Given the description of an element on the screen output the (x, y) to click on. 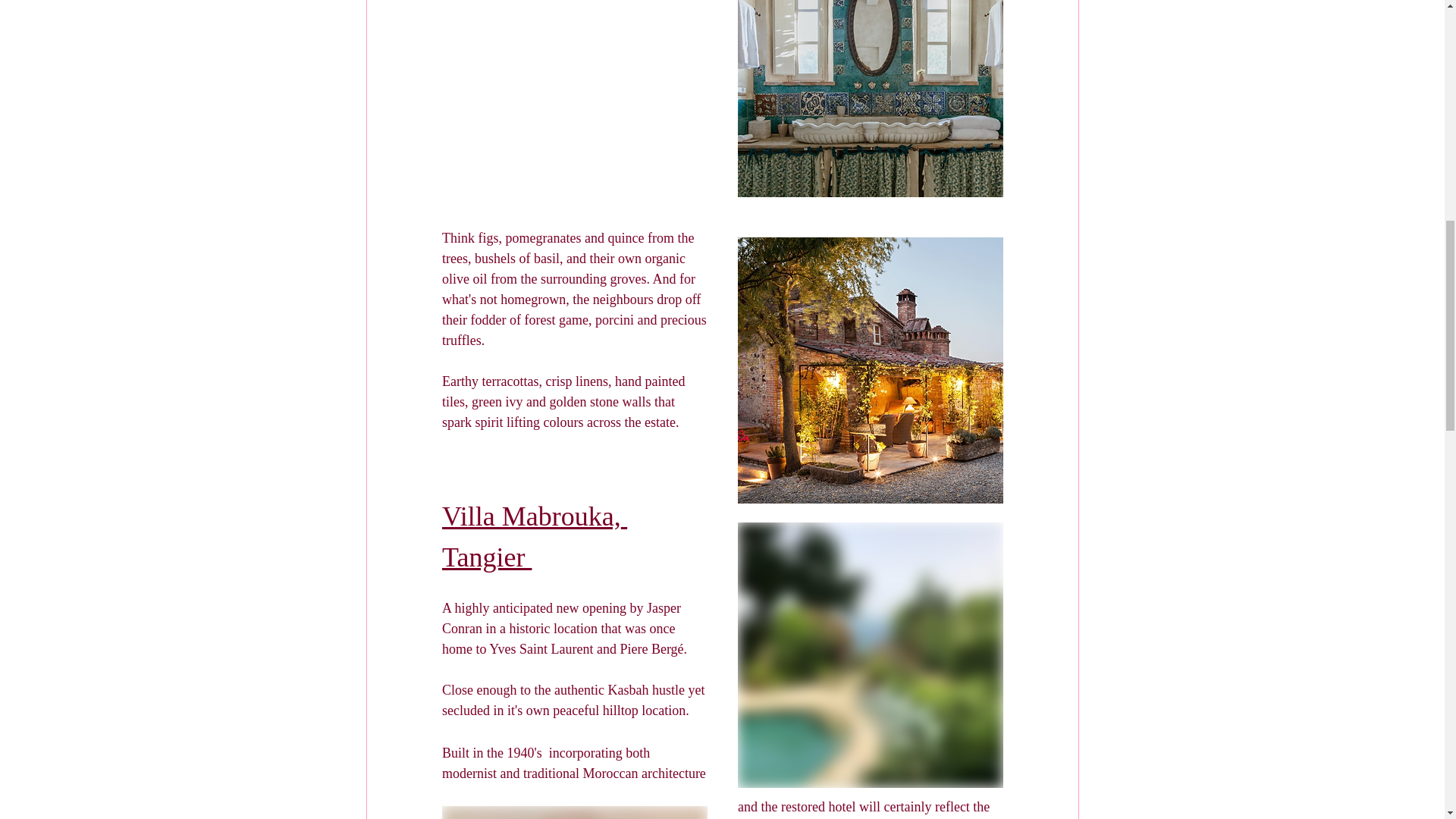
Villa Mabrouka, Tangier  (533, 541)
